Given the description of an element on the screen output the (x, y) to click on. 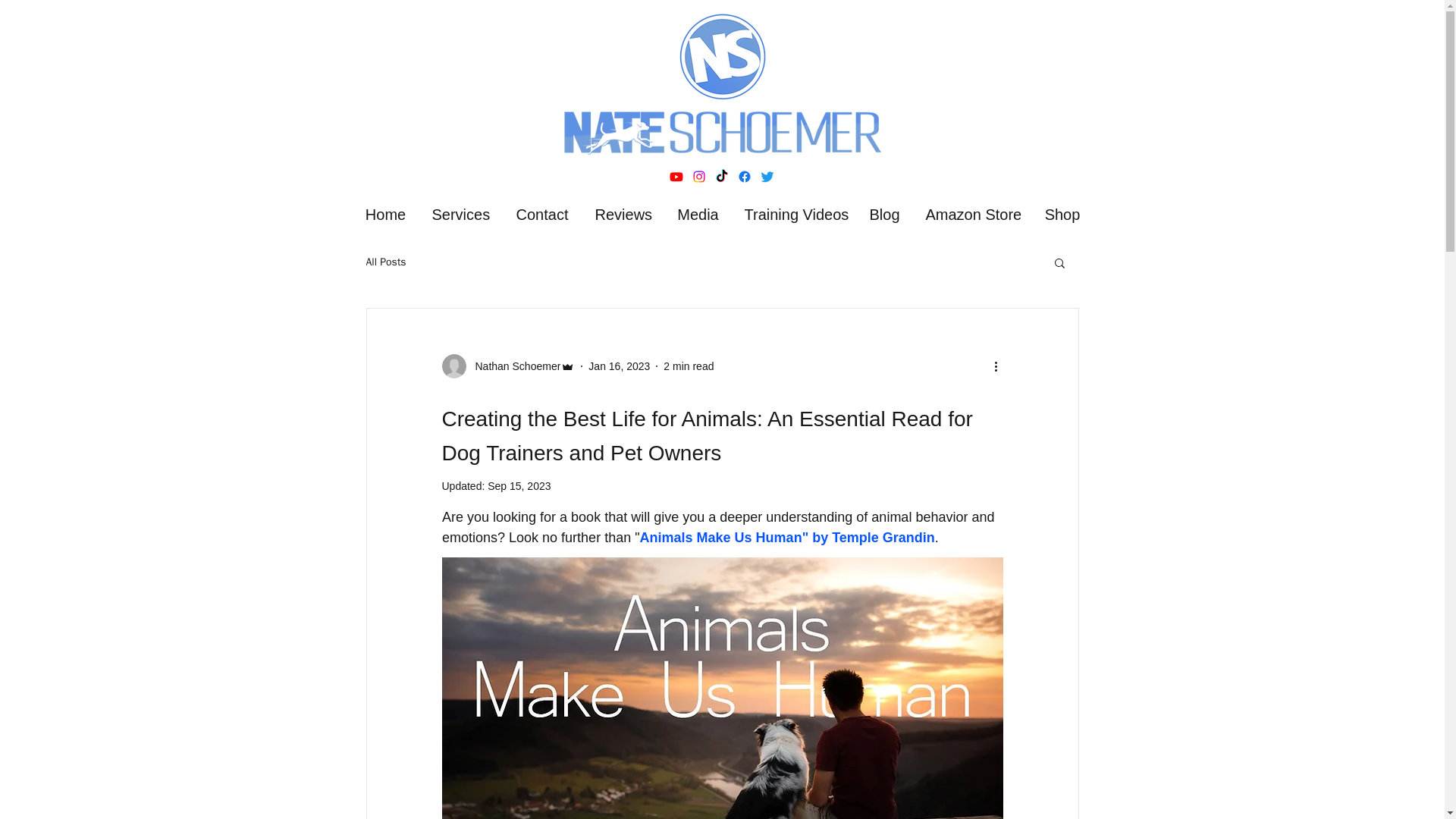
Nathan Schoemer (508, 365)
2 min read (688, 365)
Reviews (623, 214)
Training Videos (793, 214)
Jan 16, 2023 (618, 365)
Nathan Schoemer (512, 365)
Sep 15, 2023 (518, 485)
Media (697, 214)
Services (460, 214)
Blog (885, 214)
Amazon Store (972, 214)
Shop (1062, 214)
Animals Make Us Human" by Temple Grandin (786, 537)
All Posts (385, 262)
Home (385, 214)
